Given the description of an element on the screen output the (x, y) to click on. 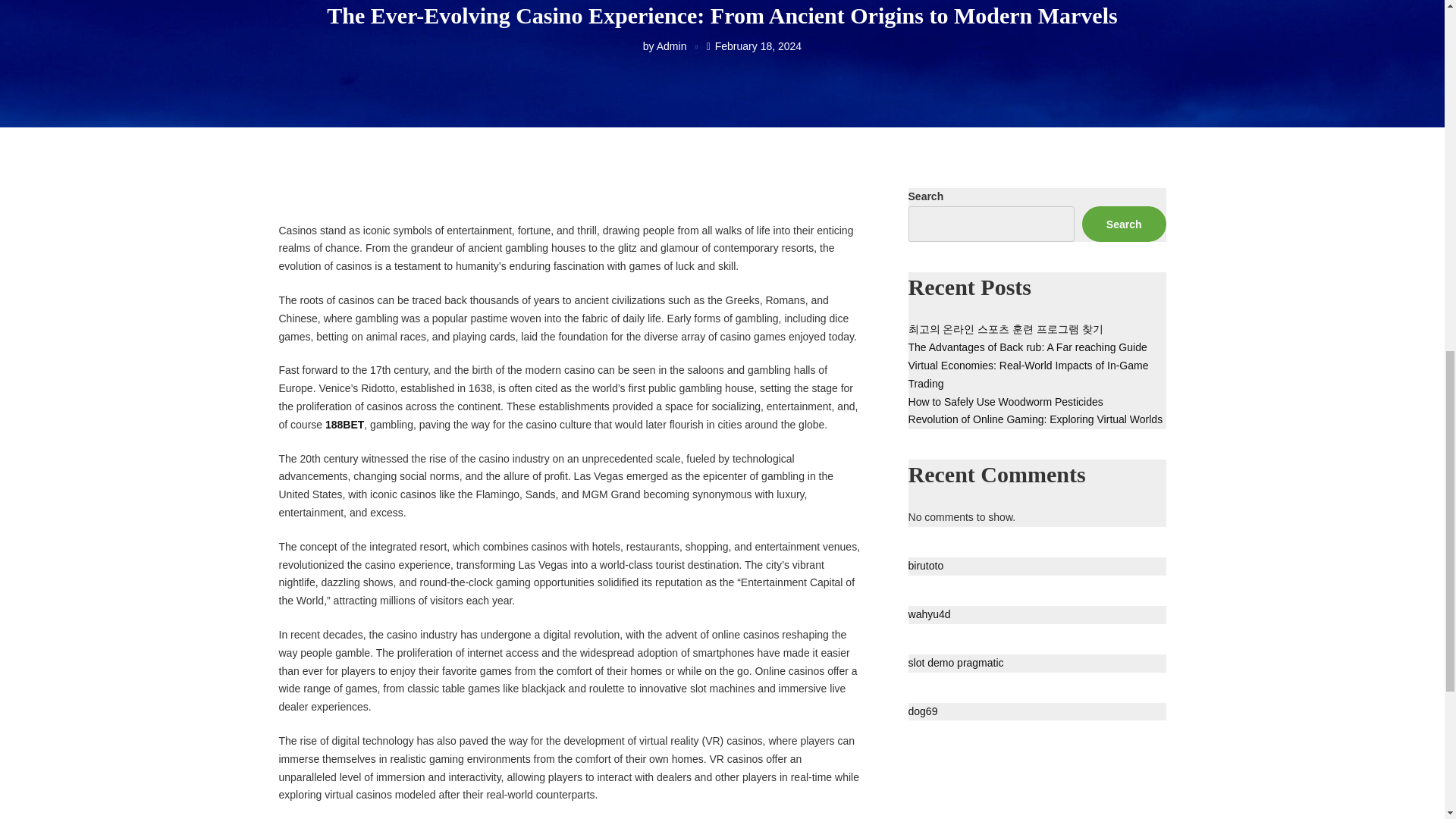
Search (1123, 224)
February 18, 2024 (758, 46)
How to Safely Use Woodworm Pesticides (1005, 401)
The Advantages of Back rub: A Far reaching Guide (1027, 346)
Virtual Economies: Real-World Impacts of In-Game Trading (1028, 374)
Admin (671, 46)
188BET (344, 424)
